Given the description of an element on the screen output the (x, y) to click on. 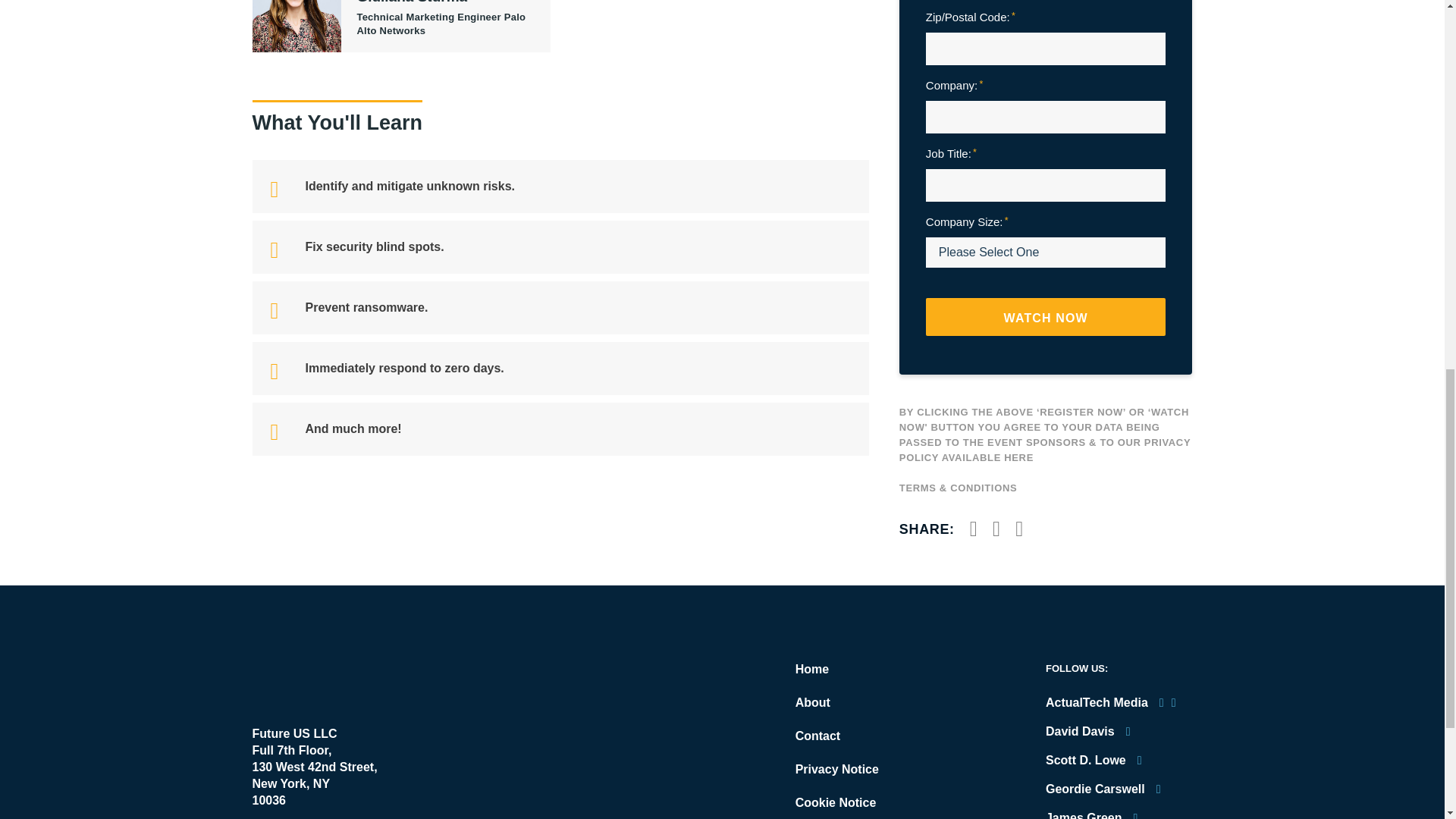
Please Select One (1046, 252)
WATCH NOW (1046, 316)
ActualTech Media (336, 677)
Contact (817, 735)
Cookie Notice (835, 802)
James on Twitter (1149, 815)
Home (811, 668)
About (811, 702)
Privacy Notice (836, 768)
